Given the description of an element on the screen output the (x, y) to click on. 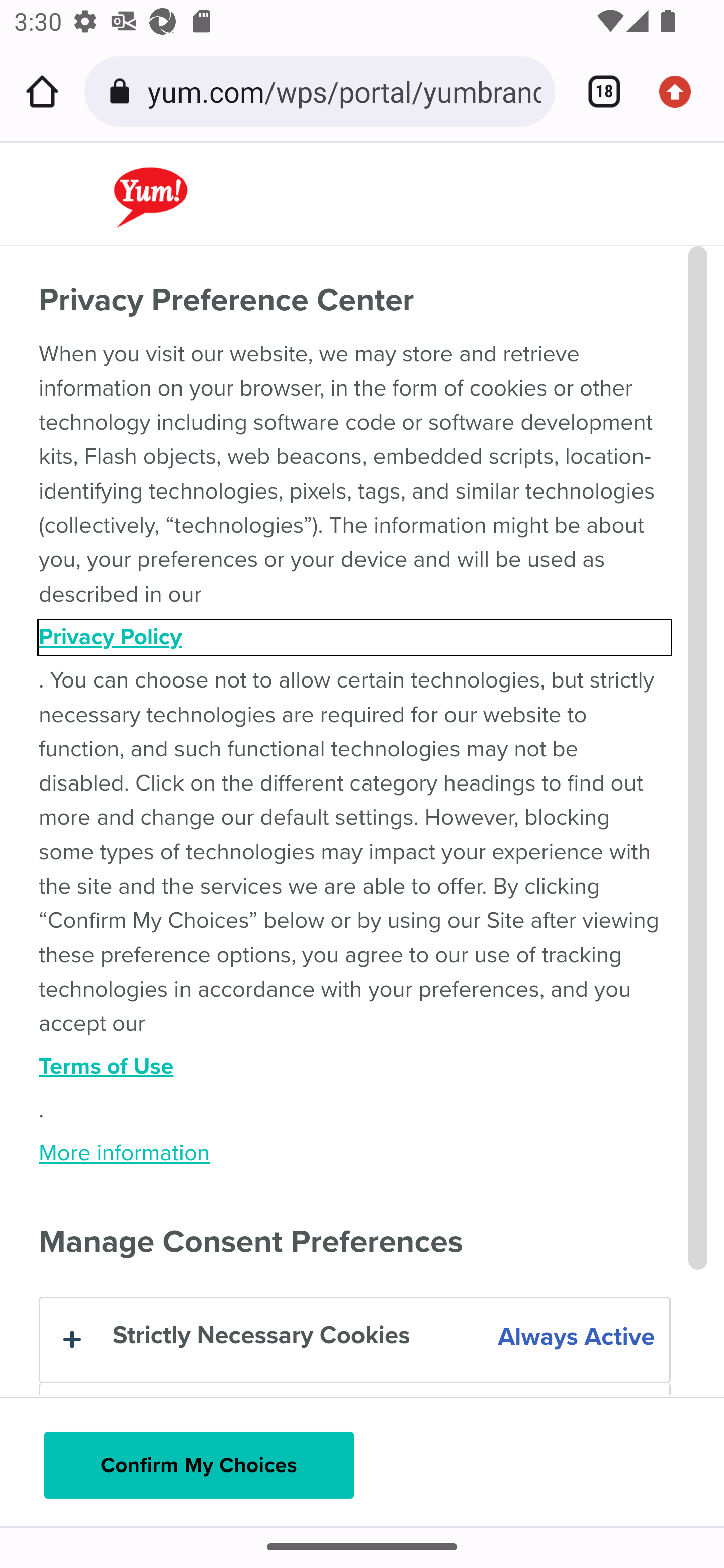
Home (42, 91)
Connection is secure (122, 91)
Switch or close tabs (597, 91)
Update available. More options (681, 91)
yum.com/wps/portal/yumbrands/Yumbrands (343, 90)
javascript:void(0); (202, 183)
Privacy Policy (354, 637)
Terms of Use (354, 1066)
Strictly Necessary Cookies (354, 1340)
Confirm My Choices (198, 1465)
